Given the description of an element on the screen output the (x, y) to click on. 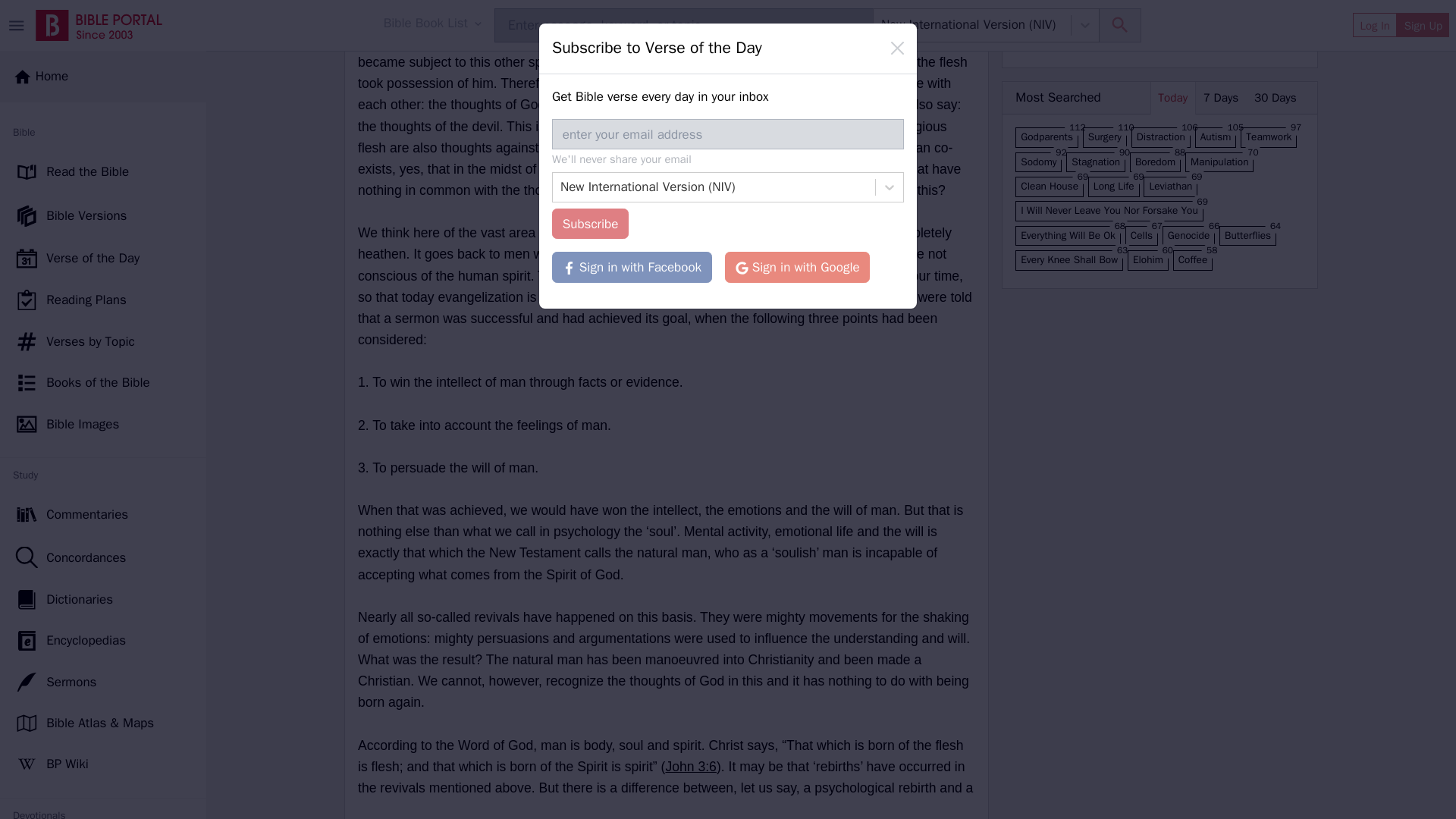
Bible Study (103, 372)
What The Bible Says (103, 414)
Videos (103, 288)
Bible Stories (103, 579)
Today's Devotionals (103, 34)
Inspirational Quotes (103, 158)
Daily Bread (103, 496)
Picture Quotes (103, 247)
All Devotionals (103, 116)
Random Bible Verse (103, 620)
Bible by Genre (103, 537)
Inspirational (103, 329)
Community (103, 661)
Light of the World (103, 75)
